Given the description of an element on the screen output the (x, y) to click on. 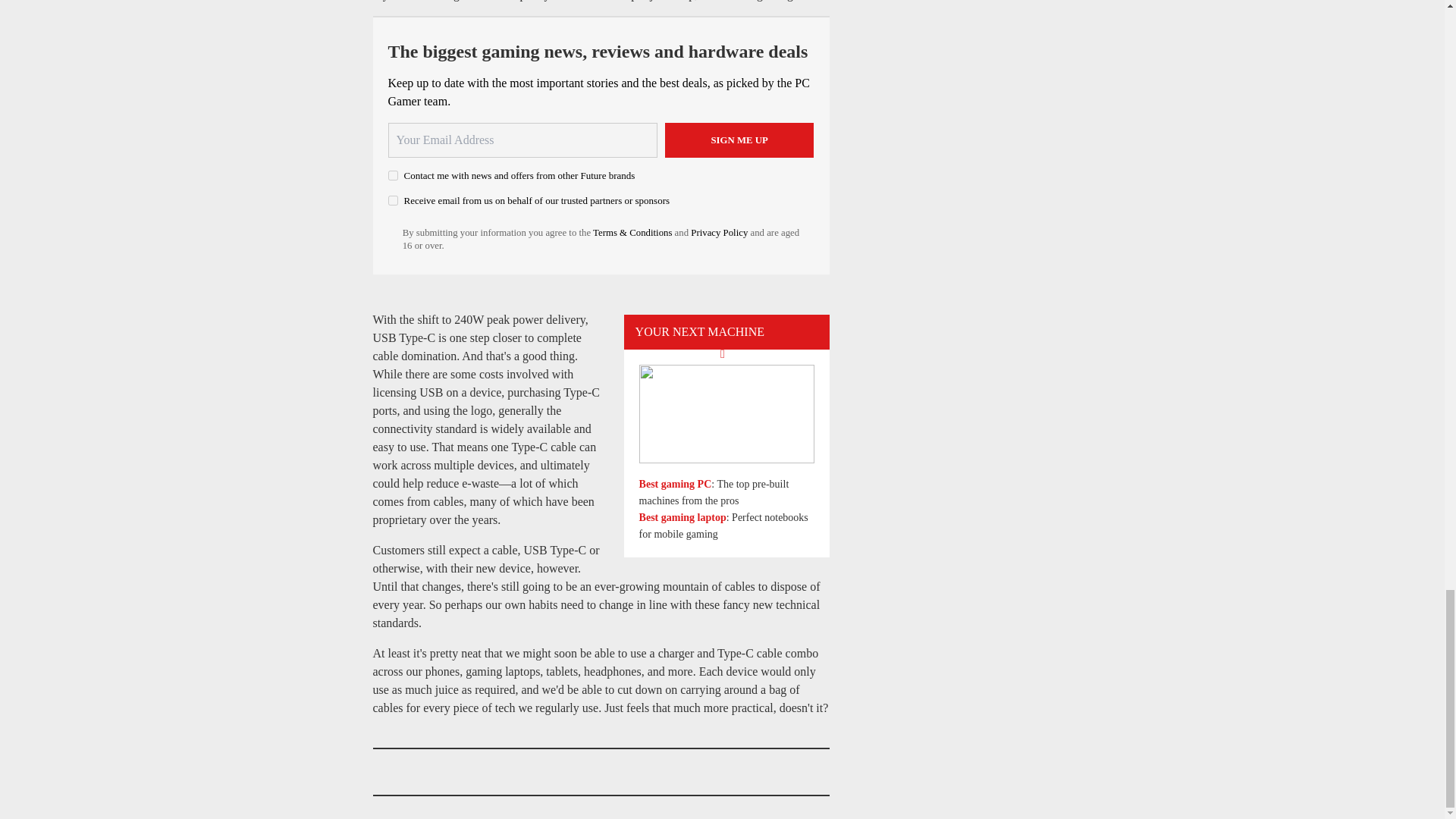
Sign me up (739, 140)
on (392, 200)
on (392, 175)
